Given the description of an element on the screen output the (x, y) to click on. 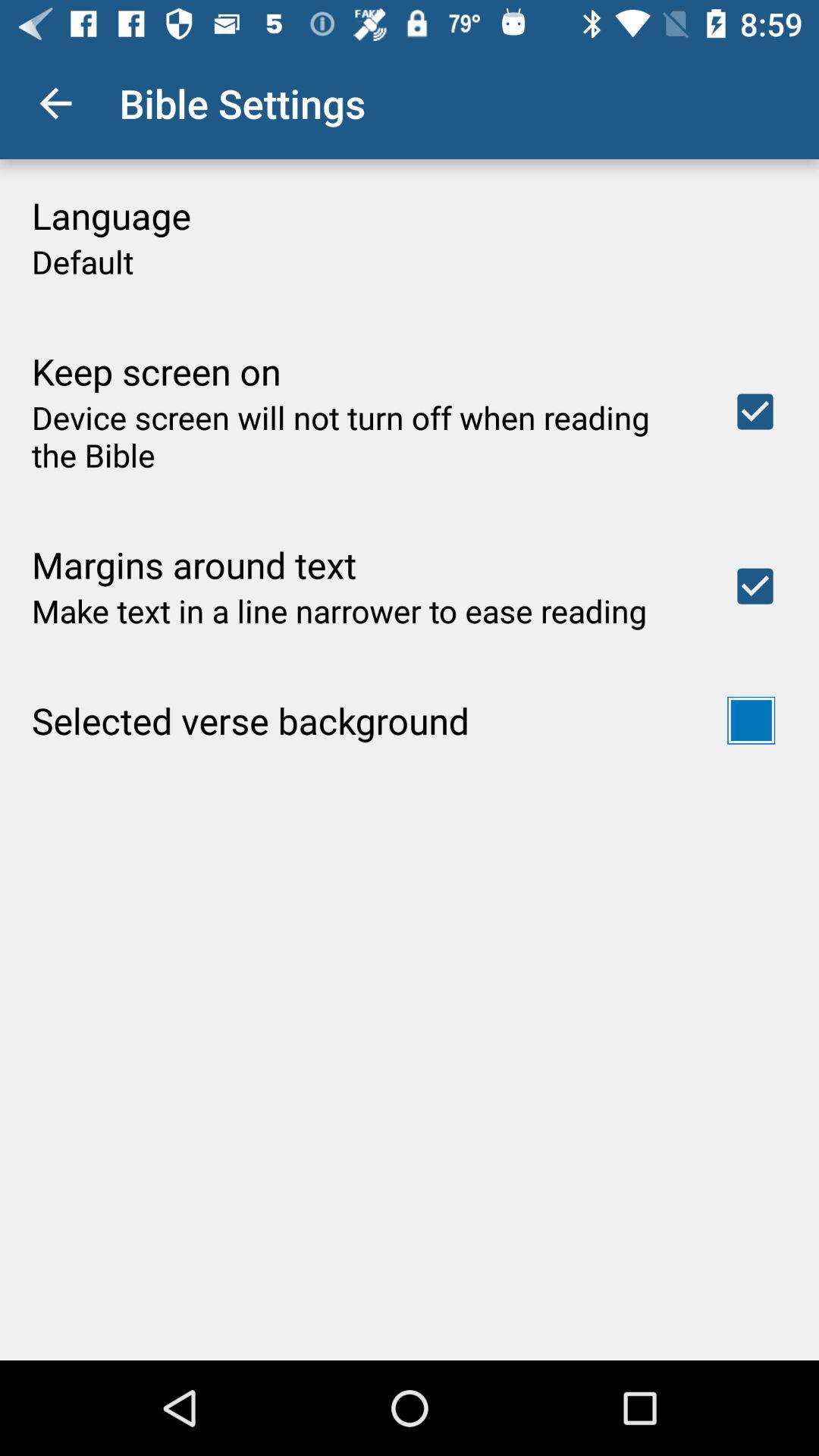
select icon next to bible settings icon (55, 103)
